Given the description of an element on the screen output the (x, y) to click on. 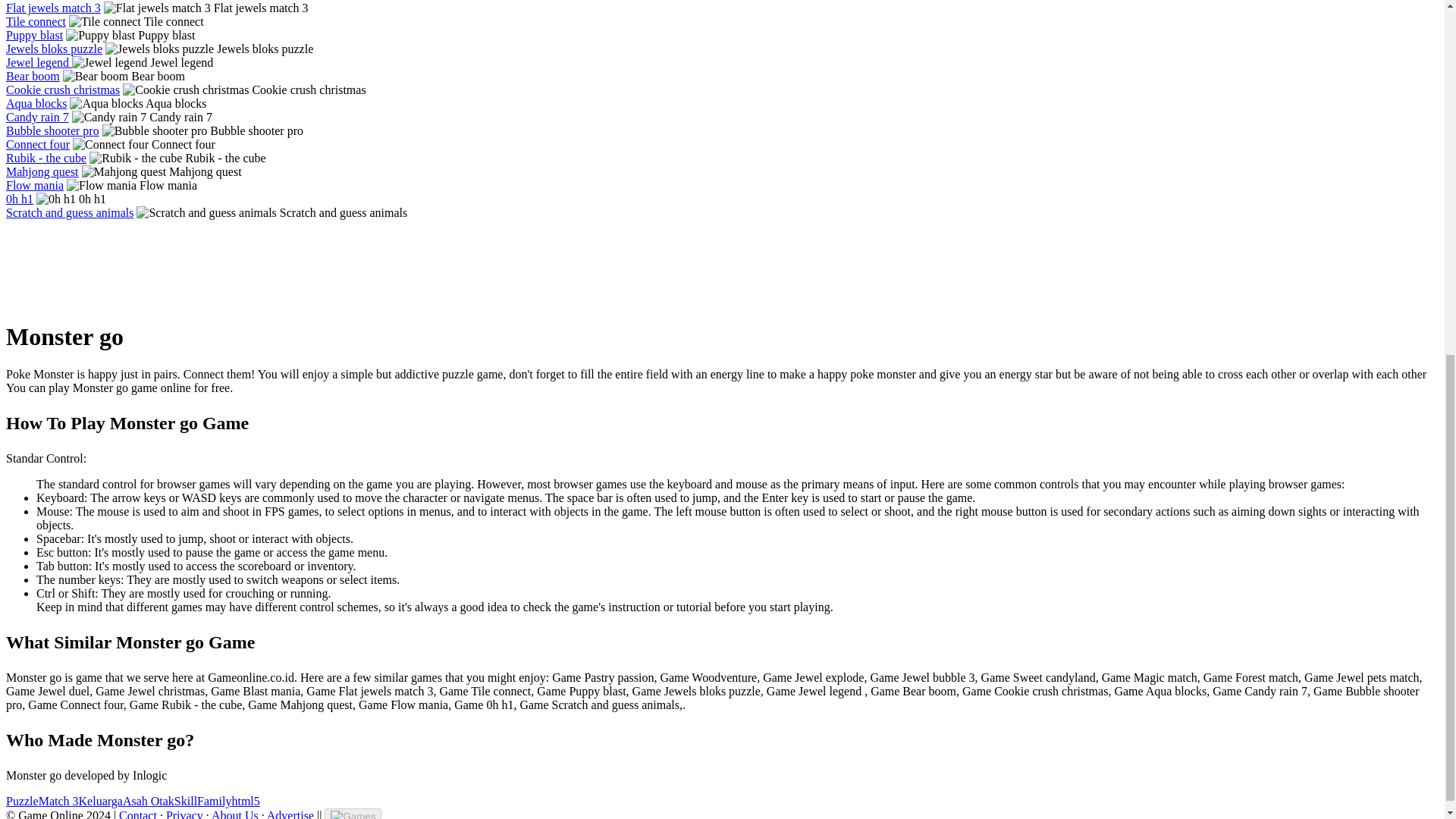
Match 3 (58, 800)
Puzzle (22, 800)
Blast mania (34, 0)
Keluarga (100, 800)
html5 (245, 800)
Asah Otak (148, 800)
Family (213, 800)
Skill (185, 800)
